Given the description of an element on the screen output the (x, y) to click on. 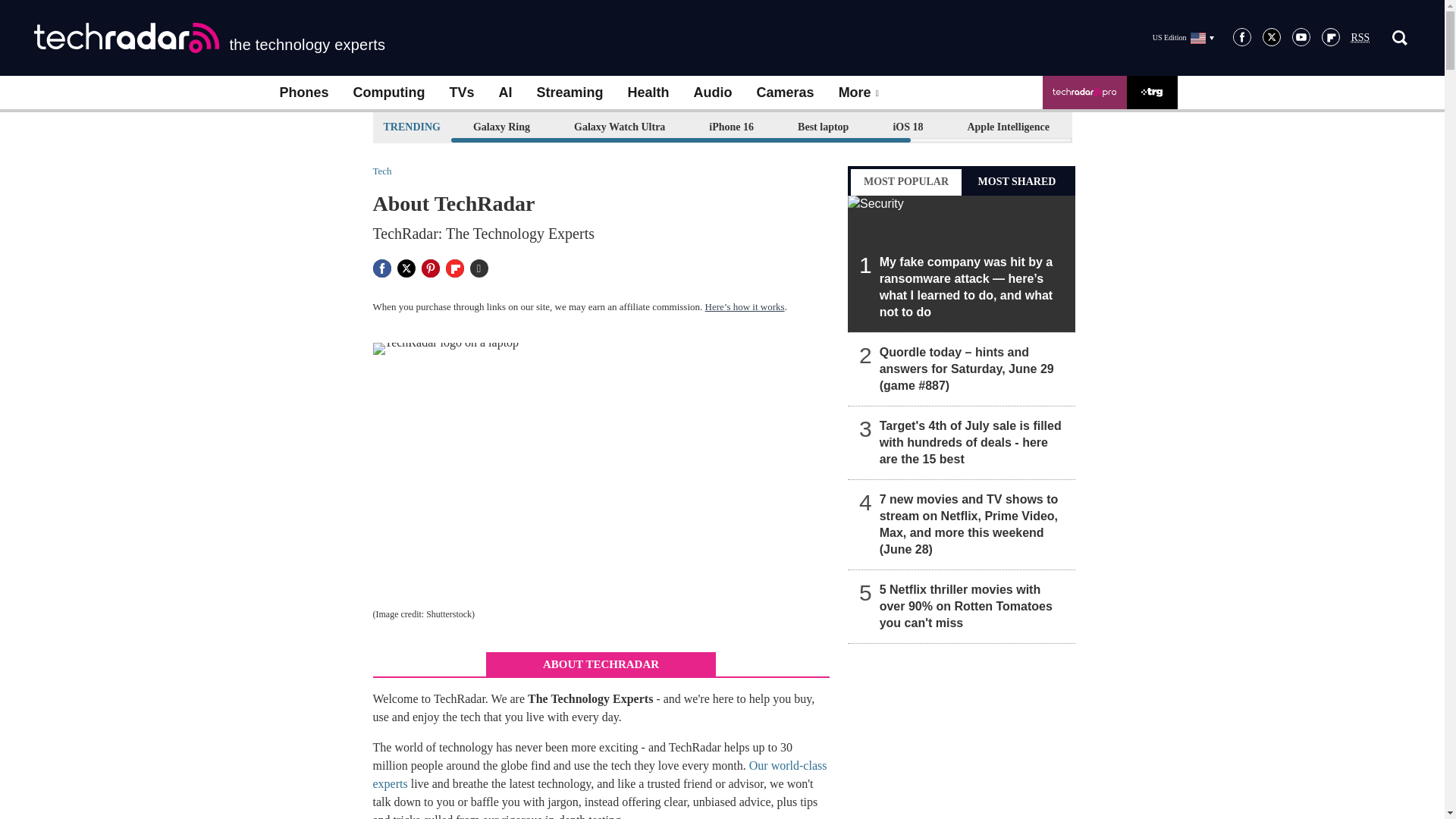
Computing (389, 92)
the technology experts (209, 38)
Really Simple Syndication (1360, 37)
AI (505, 92)
Health (648, 92)
US Edition (1182, 37)
Audio (712, 92)
Phones (303, 92)
TVs (461, 92)
Streaming (569, 92)
Cameras (785, 92)
